Given the description of an element on the screen output the (x, y) to click on. 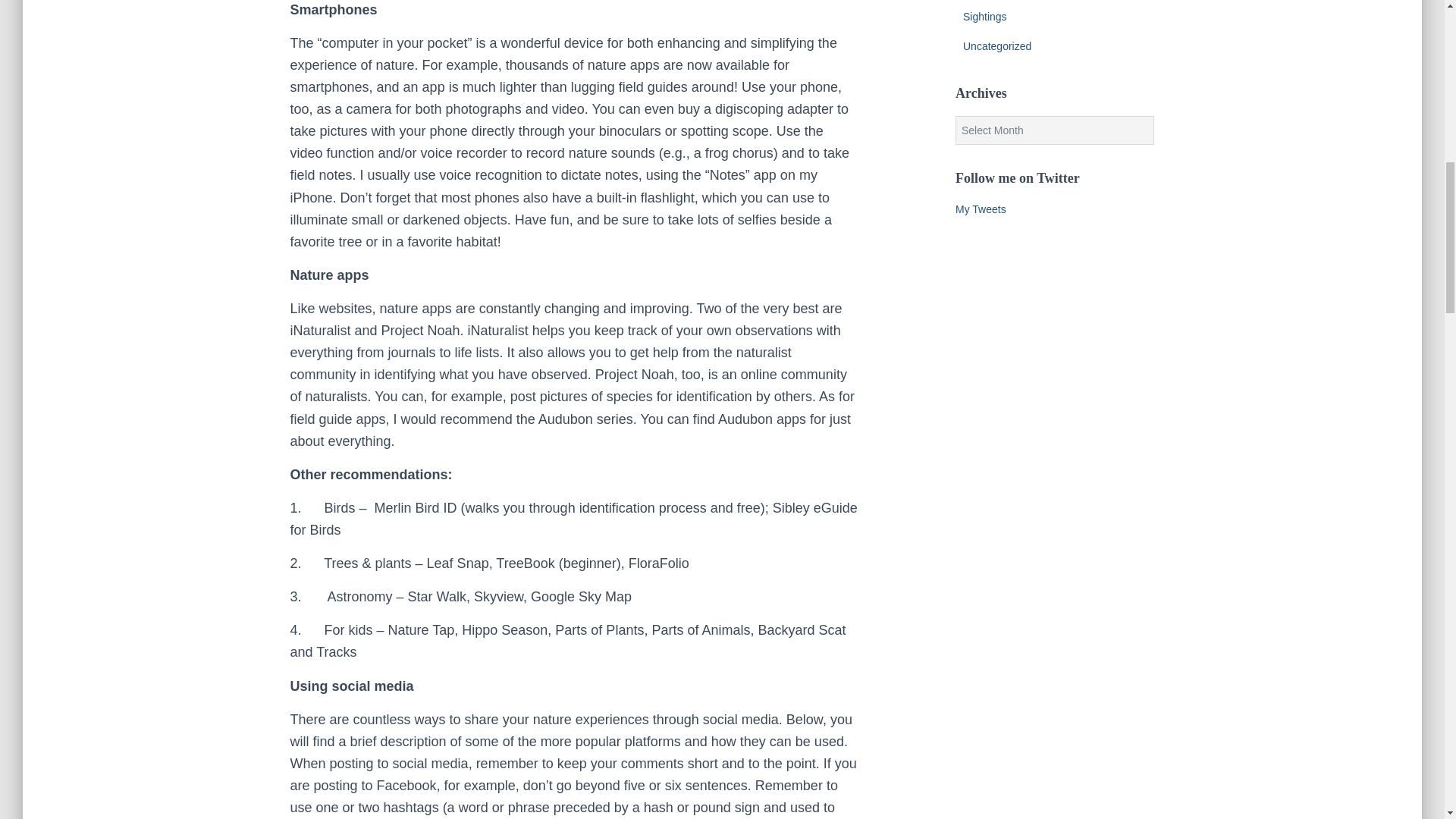
Uncategorized (996, 46)
Sightings (984, 16)
My Tweets (980, 209)
